Given the description of an element on the screen output the (x, y) to click on. 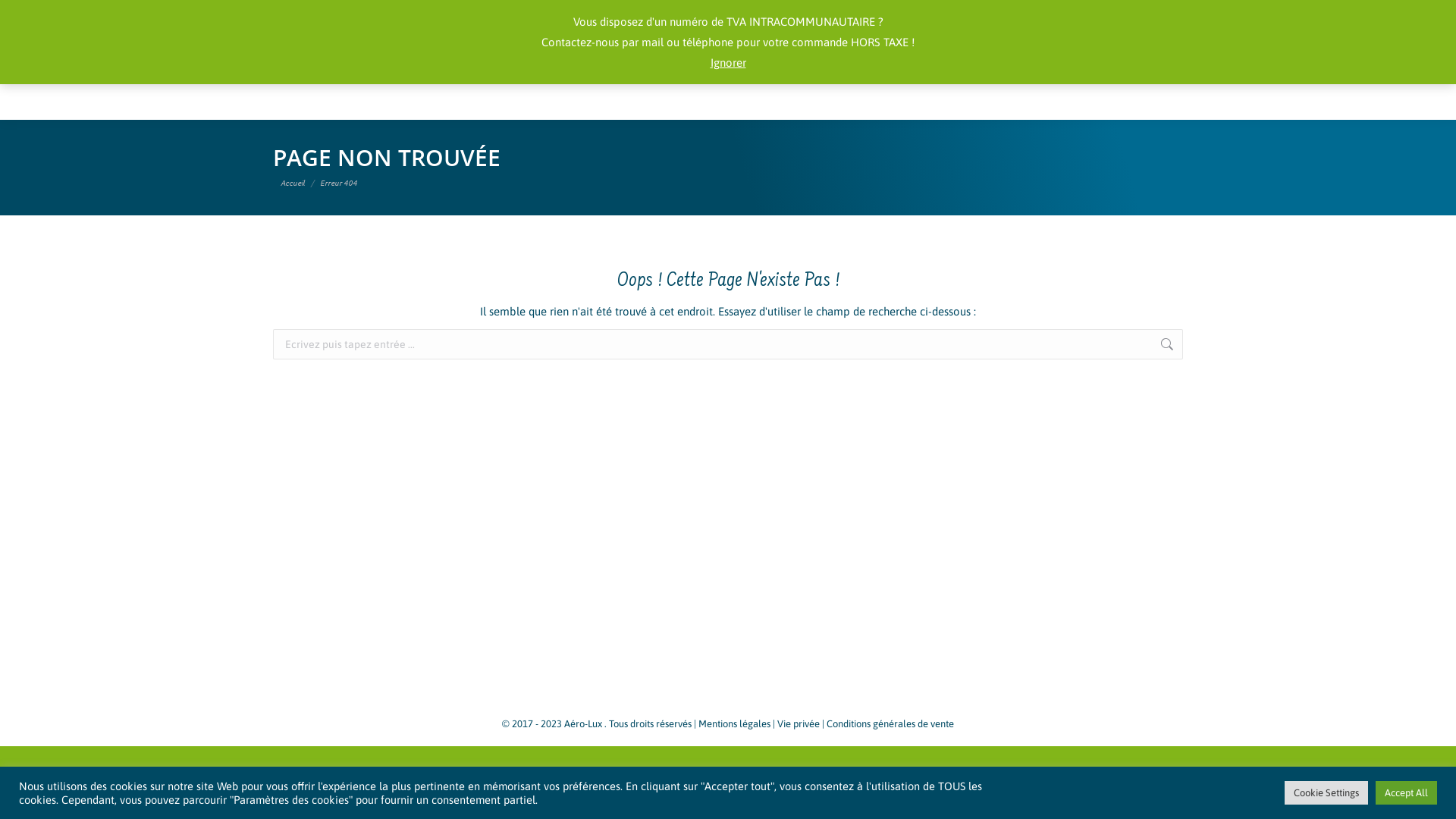
E-SHOP Element type: text (985, 73)
Aller ! Element type: text (29, 17)
Search form Element type: hover (796, 14)
WISHLIST Element type: text (1099, 14)
Cookie Settings Element type: text (1326, 792)
HOME Element type: text (330, 73)
Aller ! Element type: text (1212, 346)
YouTube page opens in new window Element type: text (309, 14)
CONTACT Element type: text (1114, 73)
A PROPOS DE NOUS Element type: text (484, 73)
Facebook page opens in new window Element type: text (283, 14)
MON COMPTE Element type: text (905, 14)
Ignorer Element type: text (727, 62)
NOS PRODUITS Element type: text (662, 73)
Accueil Element type: text (292, 182)
AGENDA & NEWS Element type: text (833, 73)
SUIVI DE COMMANDE Element type: text (1006, 14)
Accept All Element type: text (1406, 792)
